Given the description of an element on the screen output the (x, y) to click on. 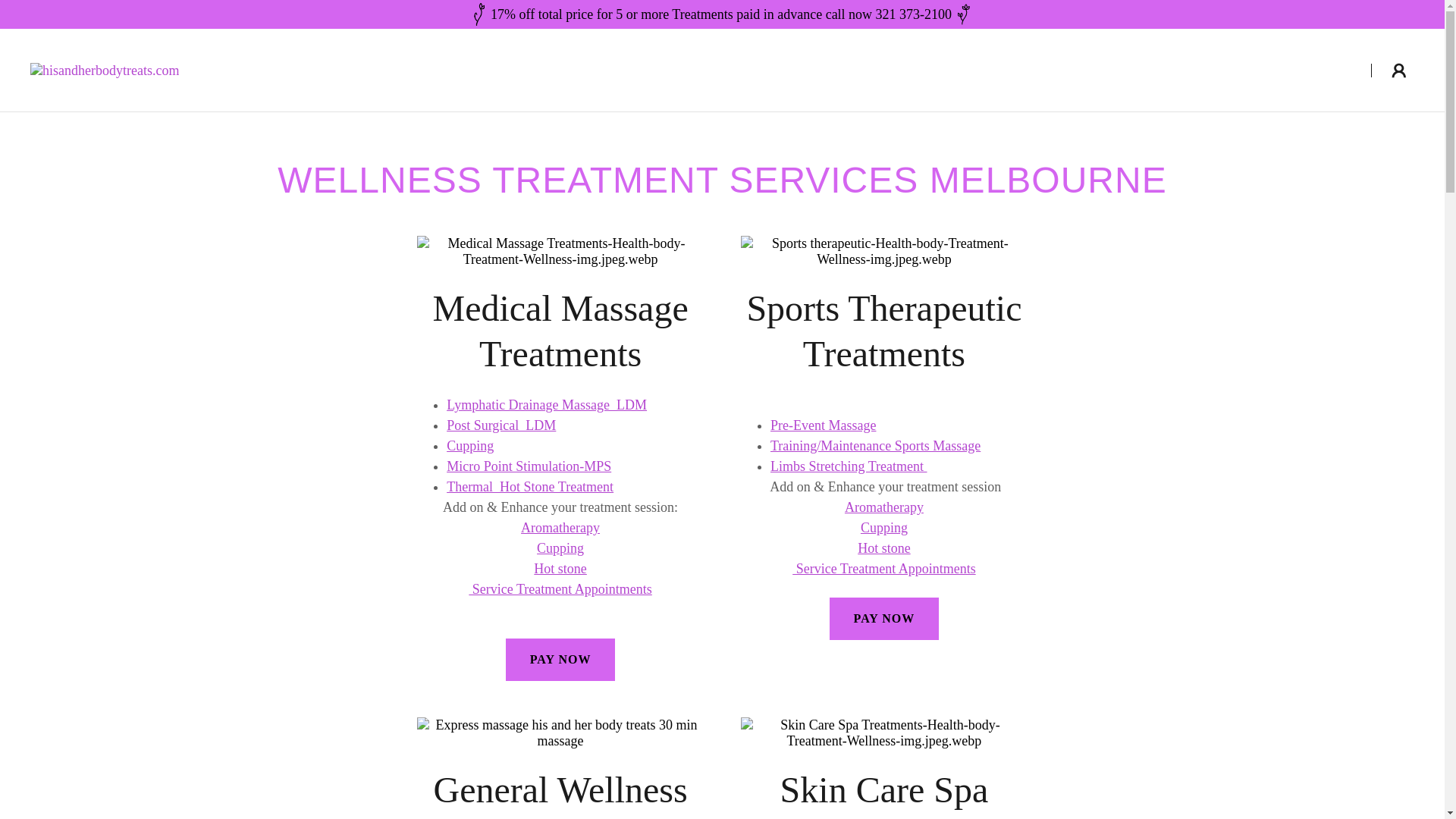
hisandherbodytreats.com (104, 68)
